Given the description of an element on the screen output the (x, y) to click on. 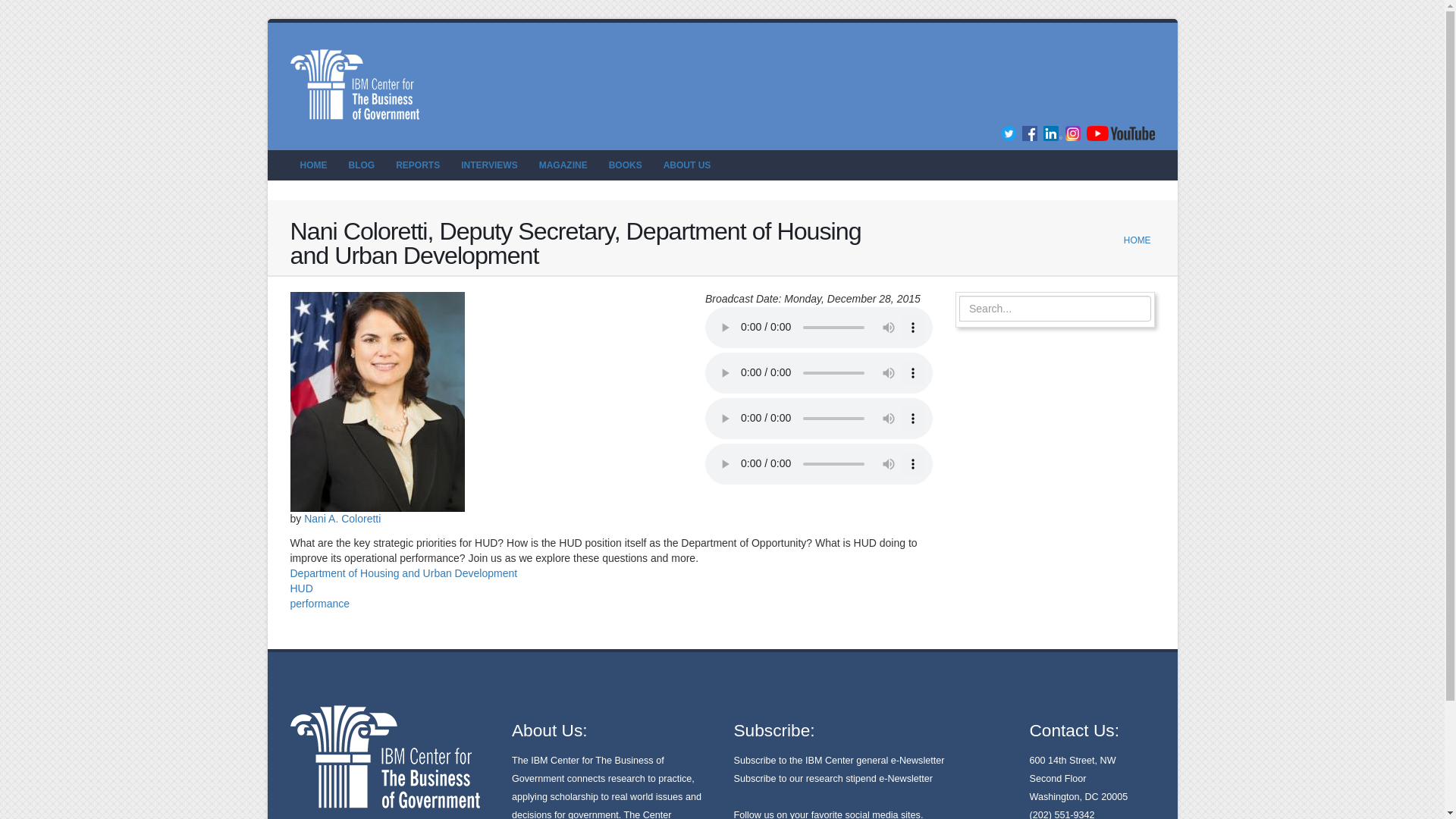
Enter the terms you wish to search for. (1055, 308)
BLOG (360, 164)
BOOKS (625, 164)
HOME (1137, 240)
REPORTS (417, 164)
Subscribe to our research stipend e-Newsletter (833, 778)
Nani A. Coloretti (342, 518)
ABOUT US (686, 164)
performance (319, 603)
Department of Housing and Urban Development (402, 573)
